Given the description of an element on the screen output the (x, y) to click on. 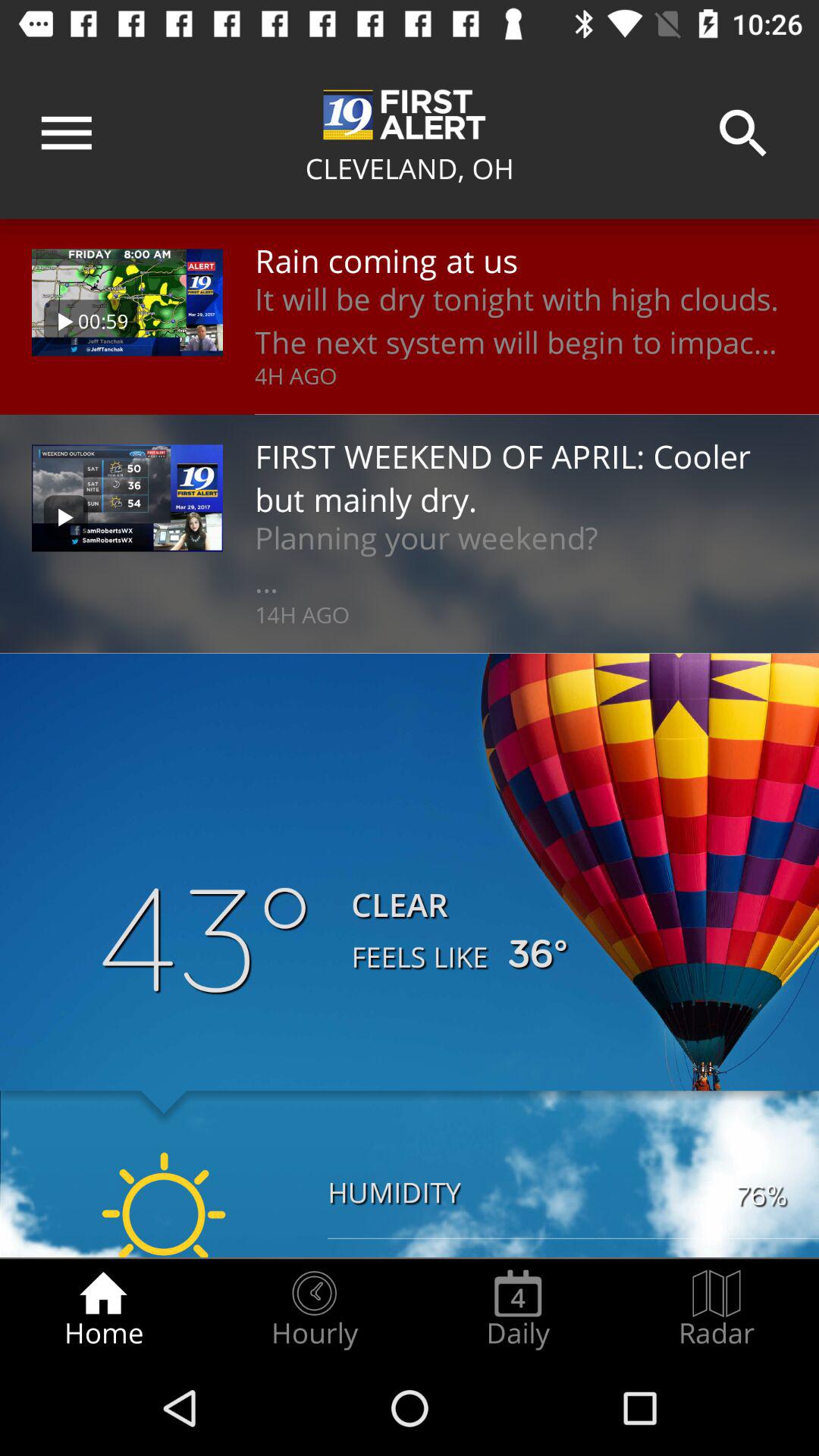
click hourly icon (314, 1309)
